Given the description of an element on the screen output the (x, y) to click on. 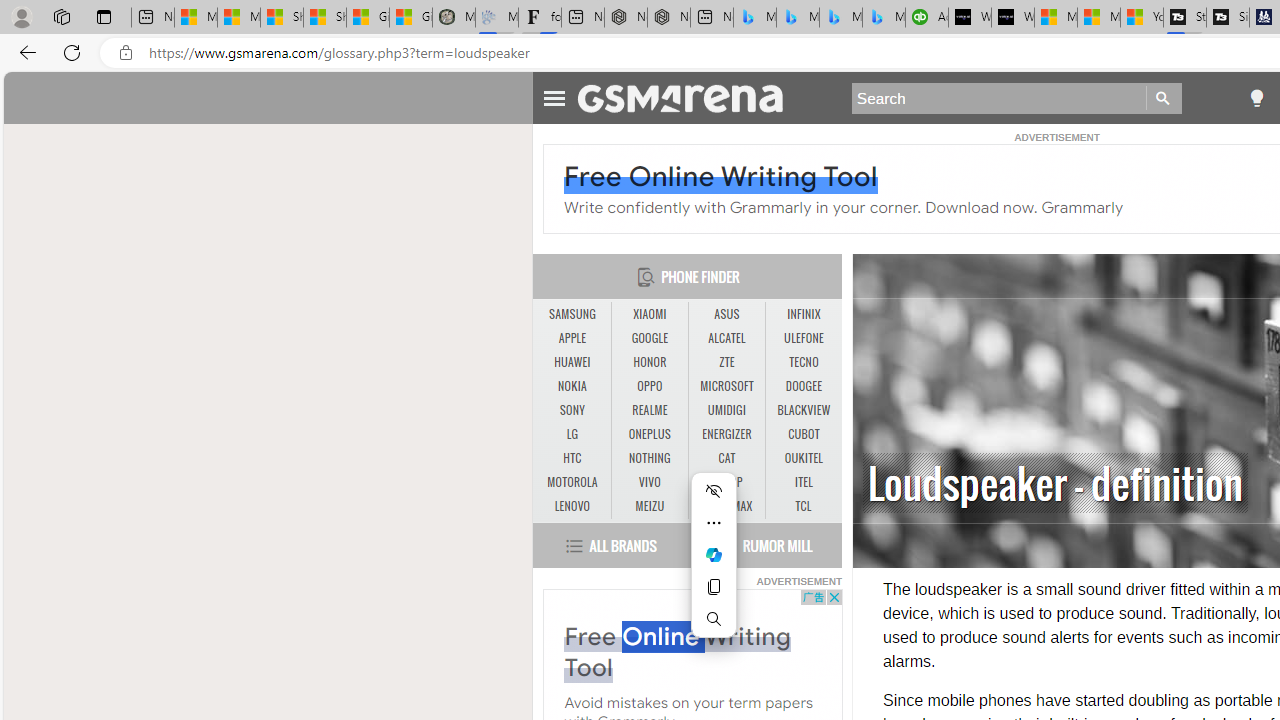
BLACKVIEW (803, 411)
VIVO (649, 482)
ASUS (726, 314)
INFINIX (803, 314)
BLACKVIEW (803, 410)
NOTHING (649, 457)
CUBOT (803, 434)
SHARP (726, 483)
Microsoft Bing Travel - Stays in Bangkok, Bangkok, Thailand (798, 17)
Microsoft Start Sports (1055, 17)
